Given the description of an element on the screen output the (x, y) to click on. 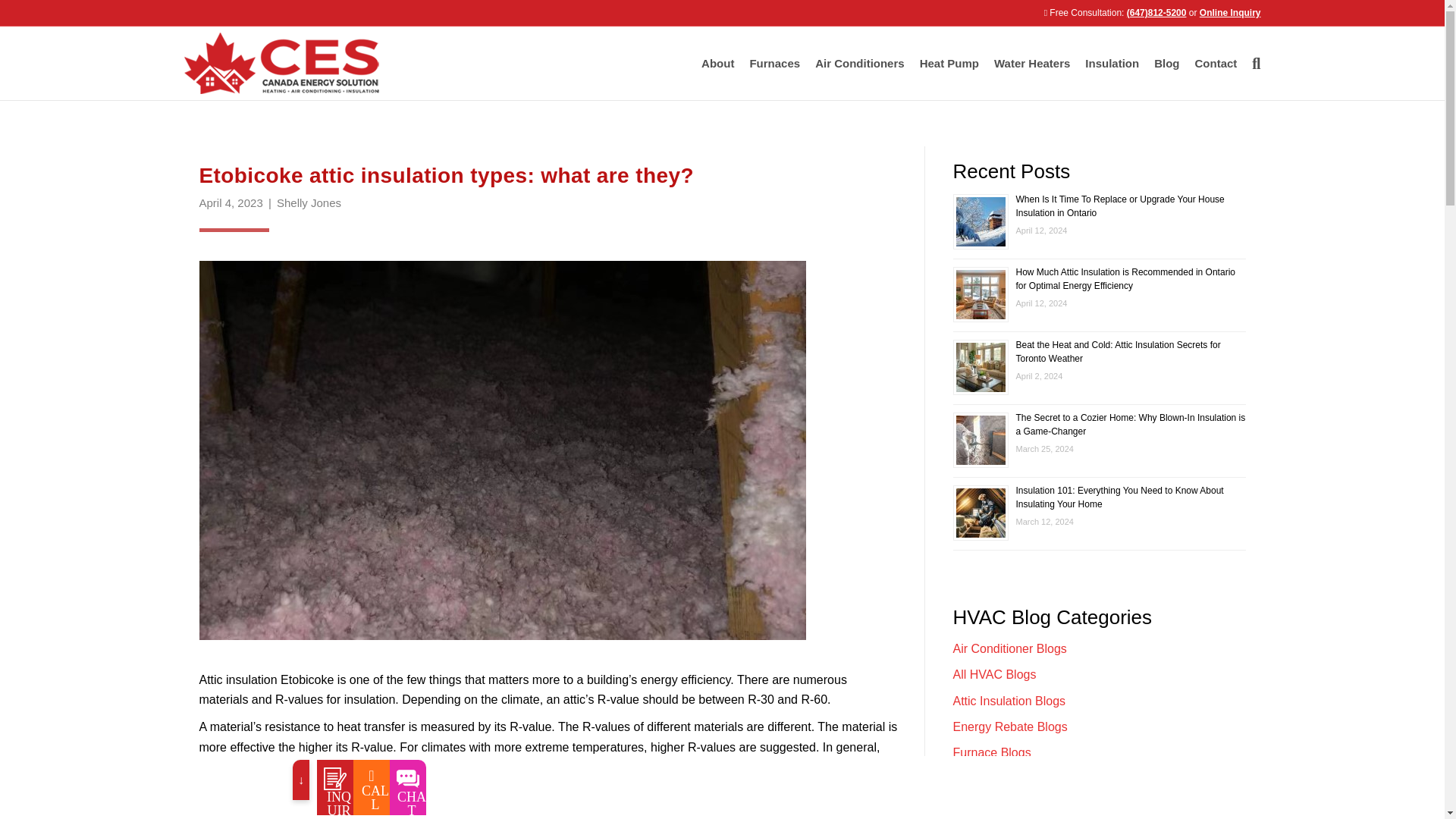
Insulation (1112, 63)
Water Heaters (1032, 63)
About (717, 63)
Furnaces (774, 63)
Online Inquiry (1229, 12)
Heat Pump (949, 63)
Air Conditioners (860, 63)
